Given the description of an element on the screen output the (x, y) to click on. 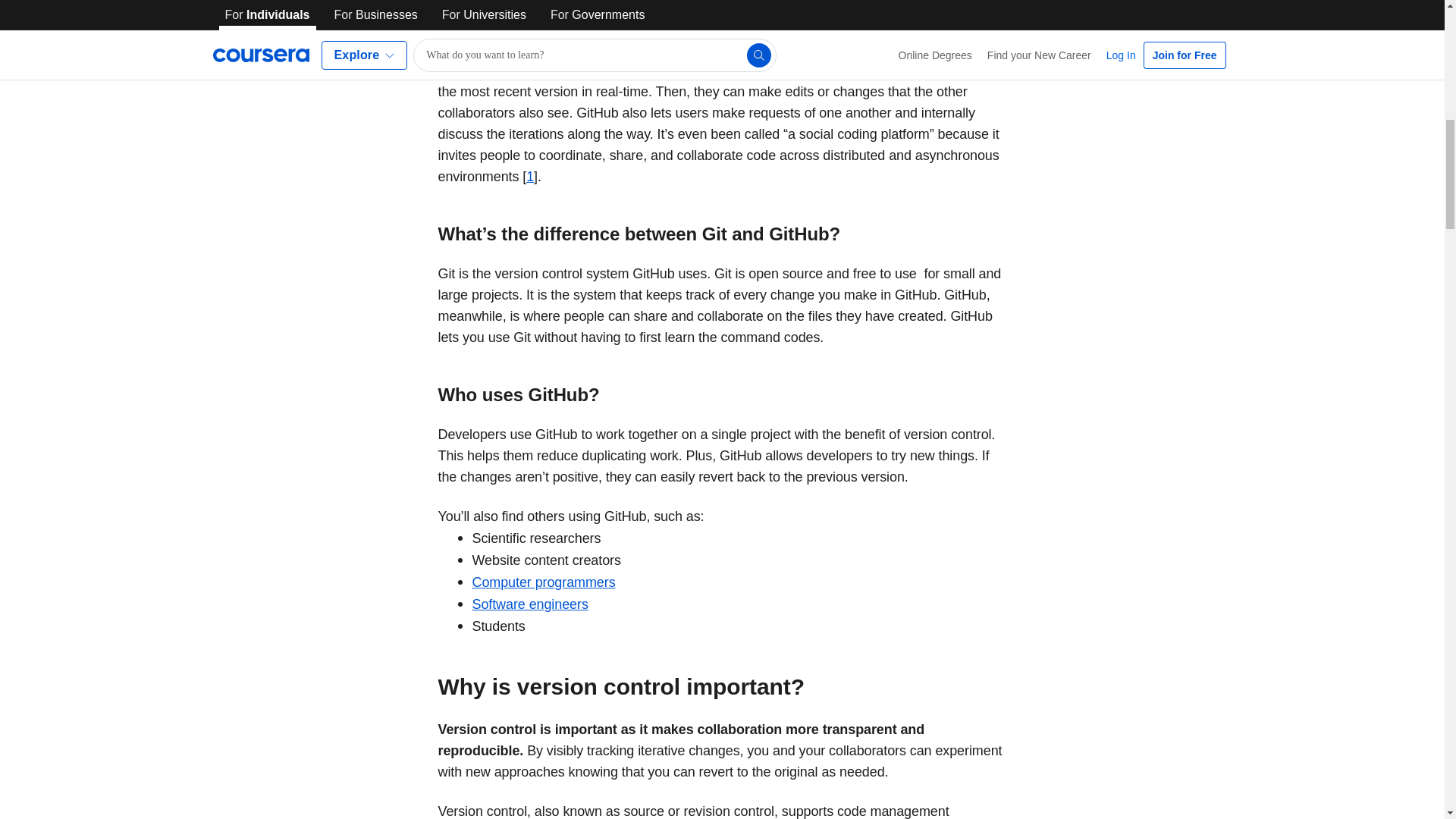
Software engineers (529, 604)
1 (529, 176)
Computer programmers (542, 581)
